Given the description of an element on the screen output the (x, y) to click on. 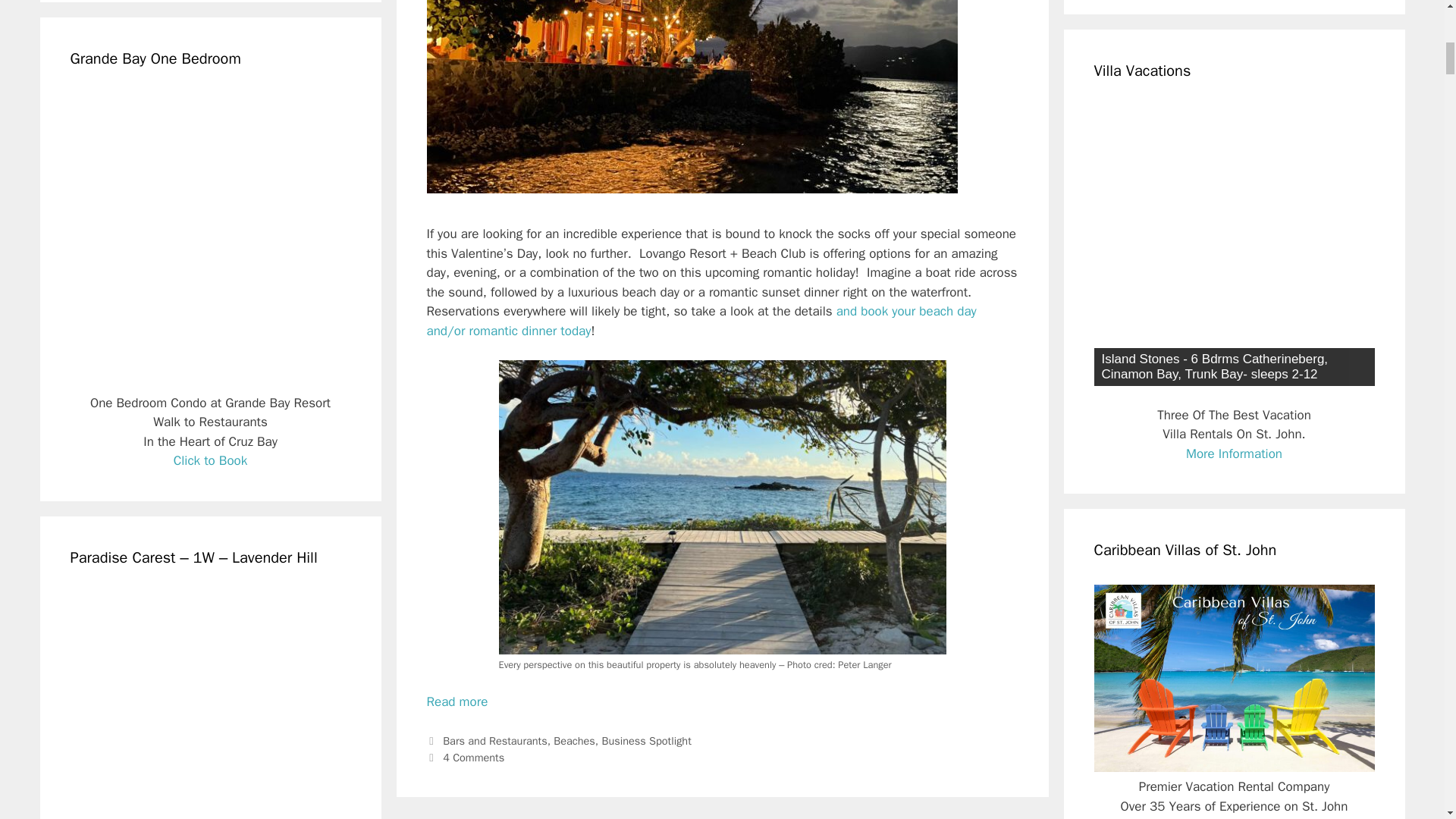
Bars and Restaurants (494, 740)
Beaches (574, 740)
Business Spotlight (646, 740)
4 Comments (472, 757)
